Given the description of an element on the screen output the (x, y) to click on. 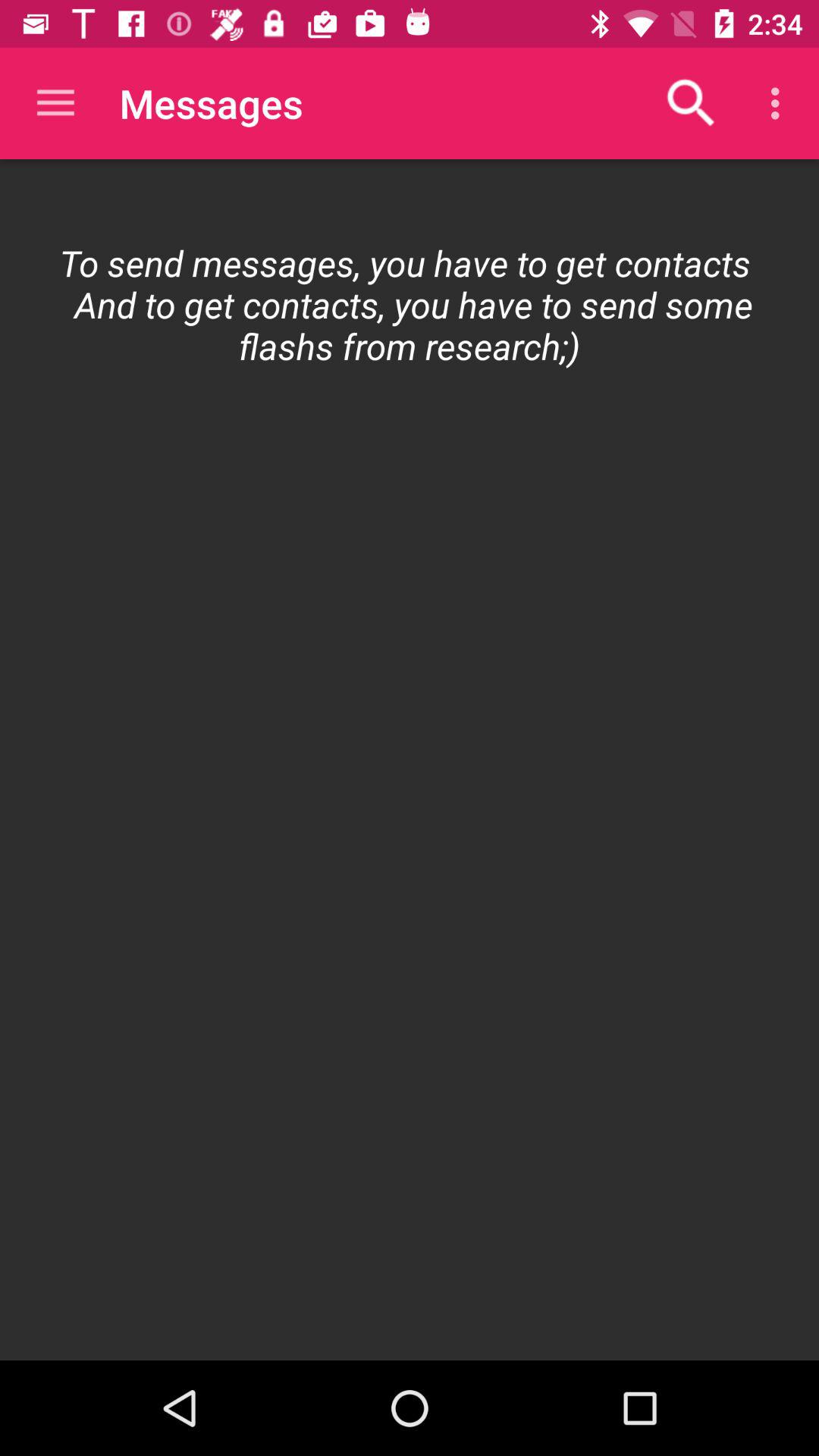
tap item to the right of the messages app (691, 103)
